Given the description of an element on the screen output the (x, y) to click on. 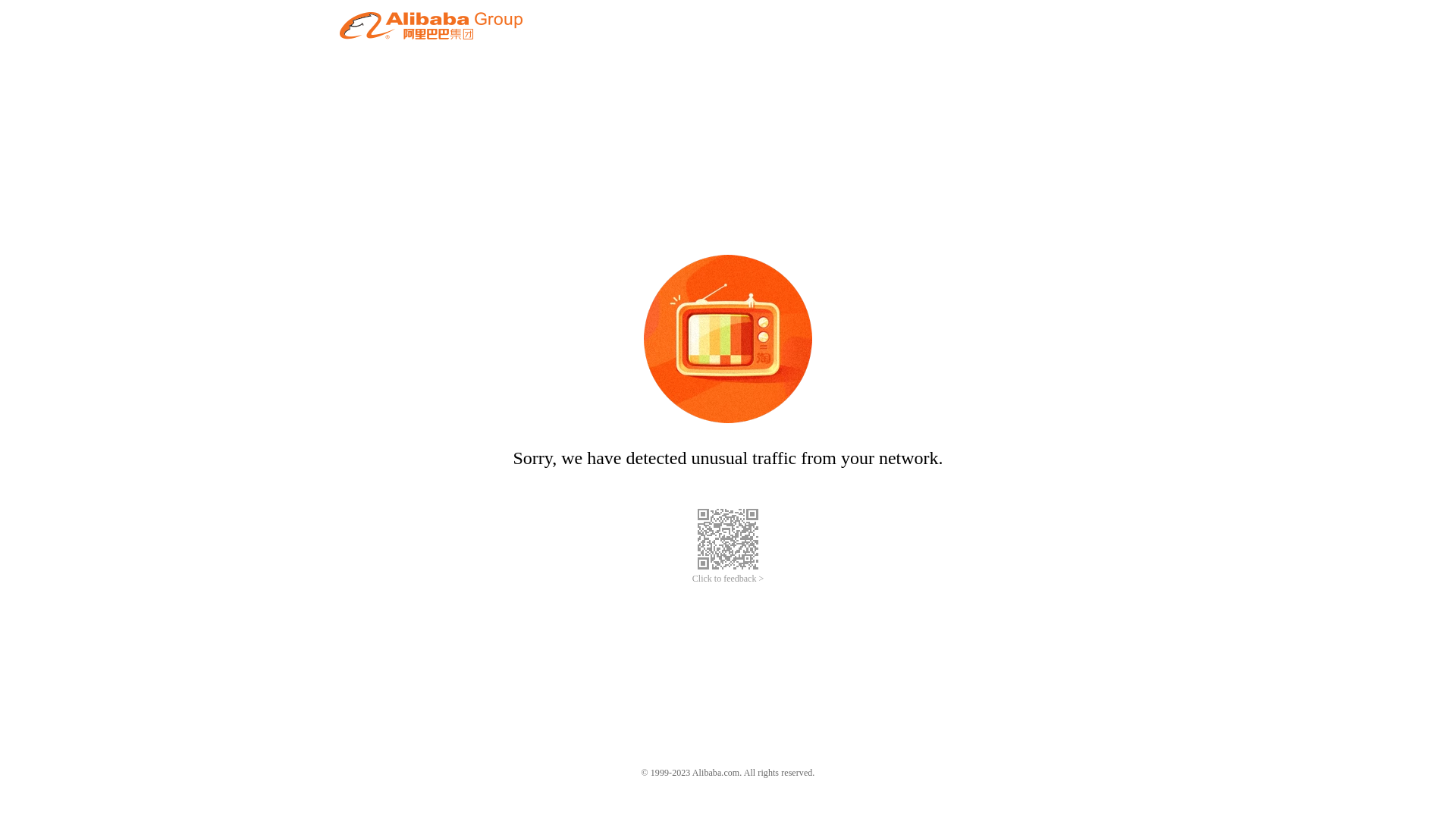
Click to feedback > Element type: text (727, 578)
